Given the description of an element on the screen output the (x, y) to click on. 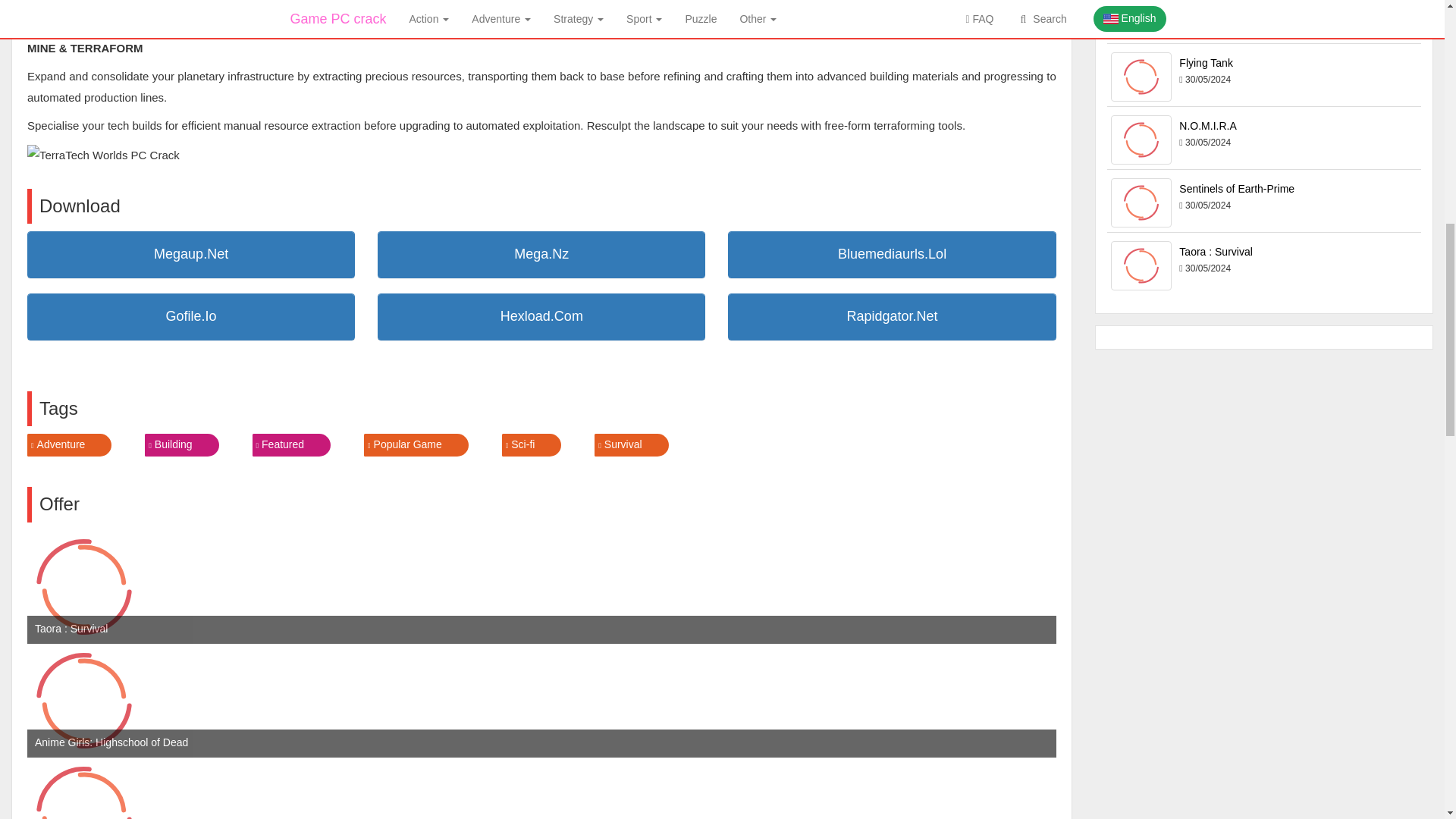
TerraTech Worlds PC Crack (103, 154)
Megaup.Net (190, 254)
Anime Girls: Highschool of Dead (84, 700)
Bluemediaurls.Lol (891, 254)
Taora : Survival (84, 586)
Serum (84, 788)
Mega.Nz (541, 254)
